Given the description of an element on the screen output the (x, y) to click on. 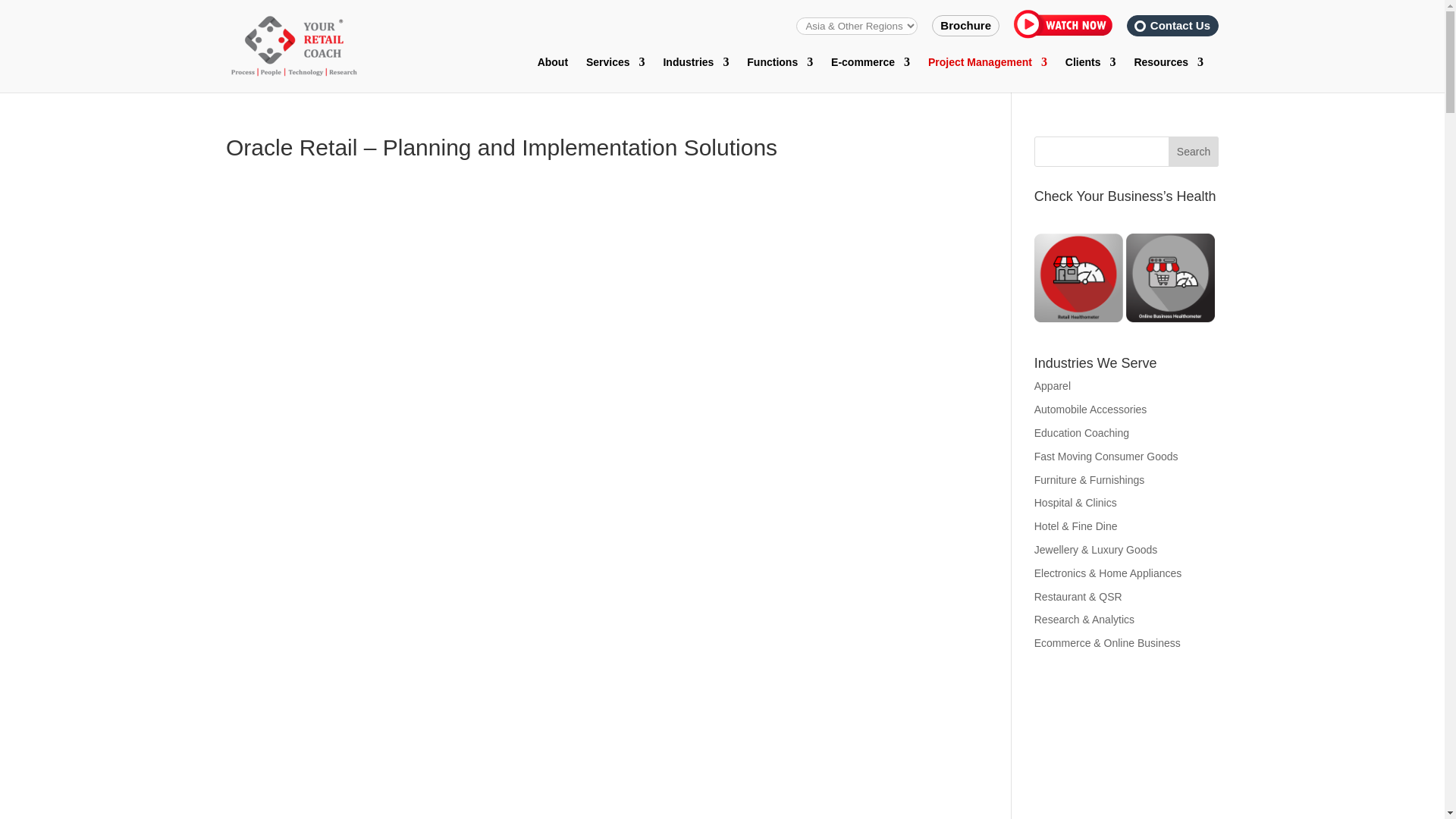
Contact Us (1179, 25)
Search (1193, 151)
Services (615, 74)
Brochure (965, 25)
